Given the description of an element on the screen output the (x, y) to click on. 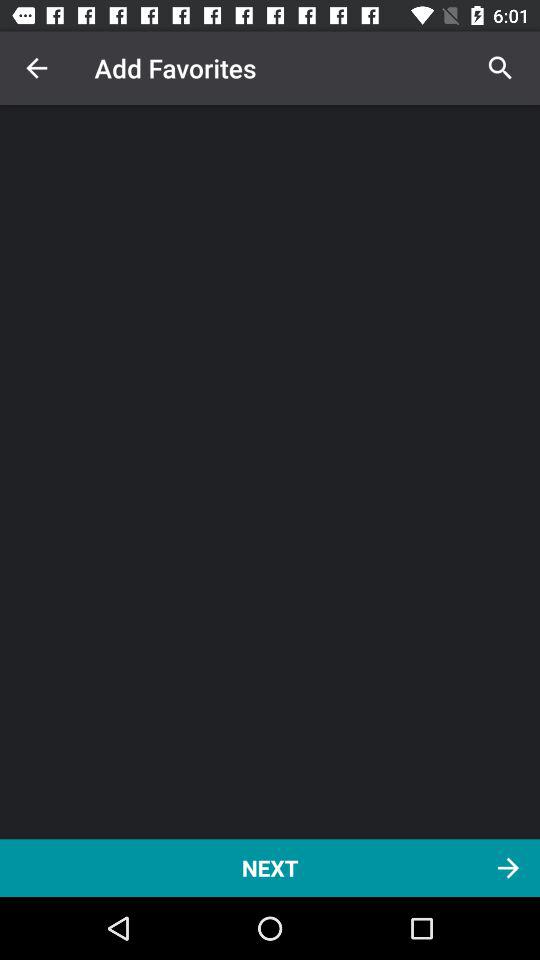
open item to the right of the add favorites item (500, 67)
